Given the description of an element on the screen output the (x, y) to click on. 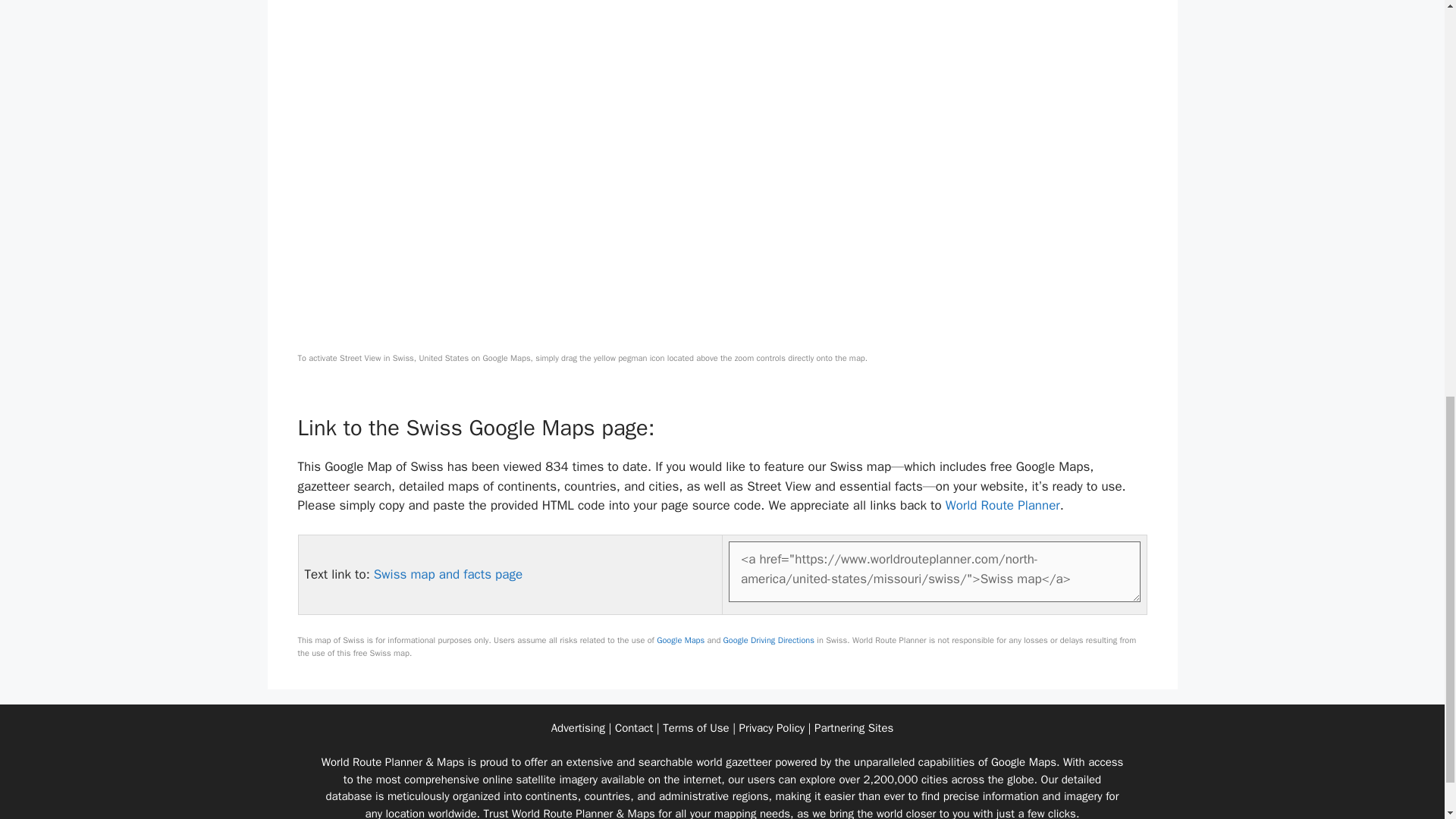
Swiss map and facts page (448, 574)
Terms of Use (695, 727)
Google Maps (680, 639)
Advertising (578, 727)
Contact (633, 727)
Google Driving Directions (768, 639)
Privacy Policy (772, 727)
World Route Planner (1001, 505)
Partnering Sites (853, 727)
